Given the description of an element on the screen output the (x, y) to click on. 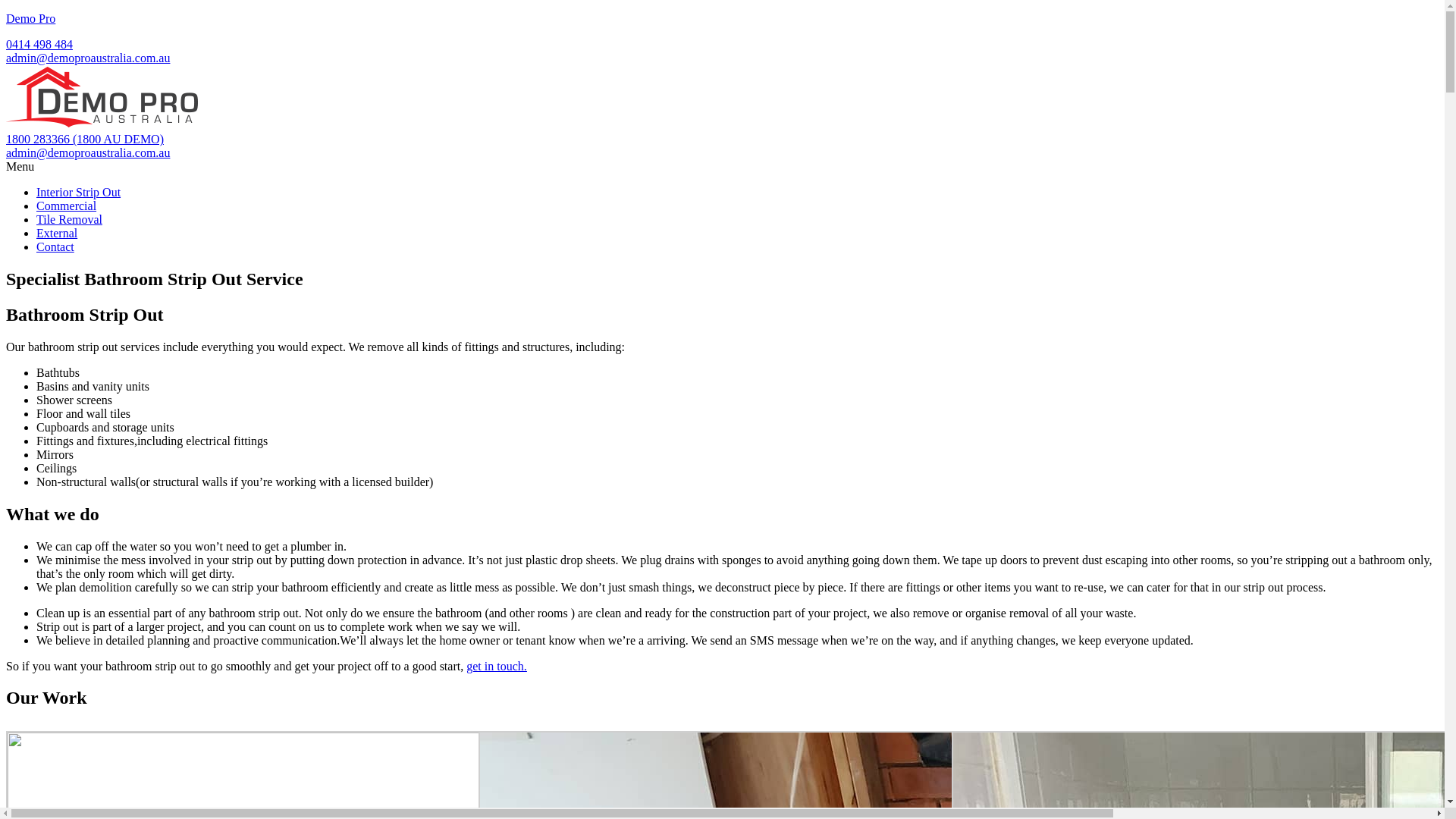
0414 498 484 Element type: text (39, 43)
Contact Element type: text (55, 246)
admin@demoproaustralia.com.au Element type: text (87, 152)
get in touch. Element type: text (496, 665)
Tile Removal Element type: text (69, 219)
admin@demoproaustralia.com.au Element type: text (87, 57)
Commercial Element type: text (66, 205)
1800 283366 (1800 AU DEMO) Element type: text (84, 138)
Demo Pro Element type: text (30, 18)
Interior Strip Out Element type: text (78, 191)
External Element type: text (56, 232)
